Given the description of an element on the screen output the (x, y) to click on. 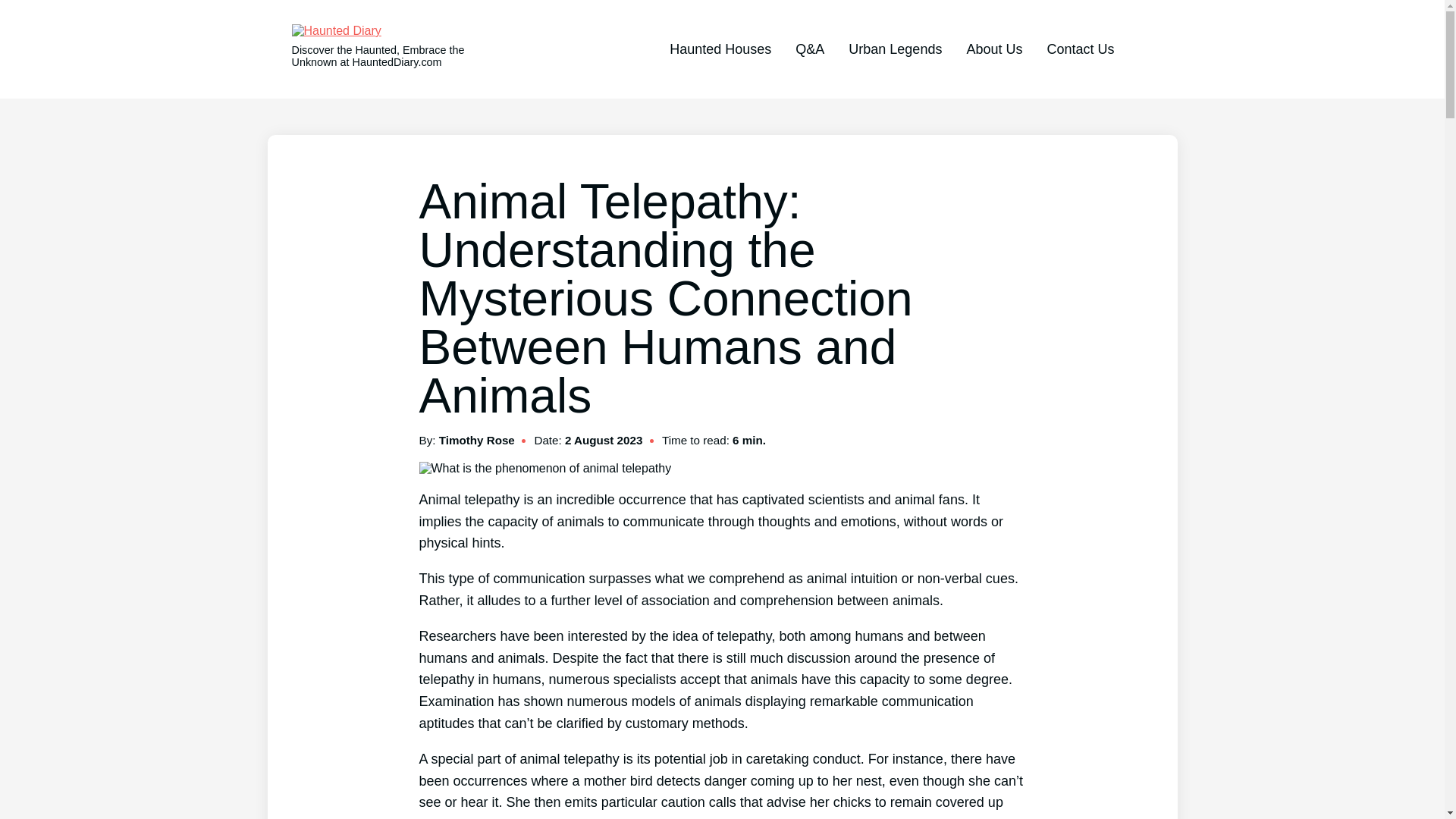
Haunted Houses (720, 48)
Urban Legends (895, 48)
Search for: (1139, 49)
Contact Us (1079, 48)
About Us (994, 48)
